Given the description of an element on the screen output the (x, y) to click on. 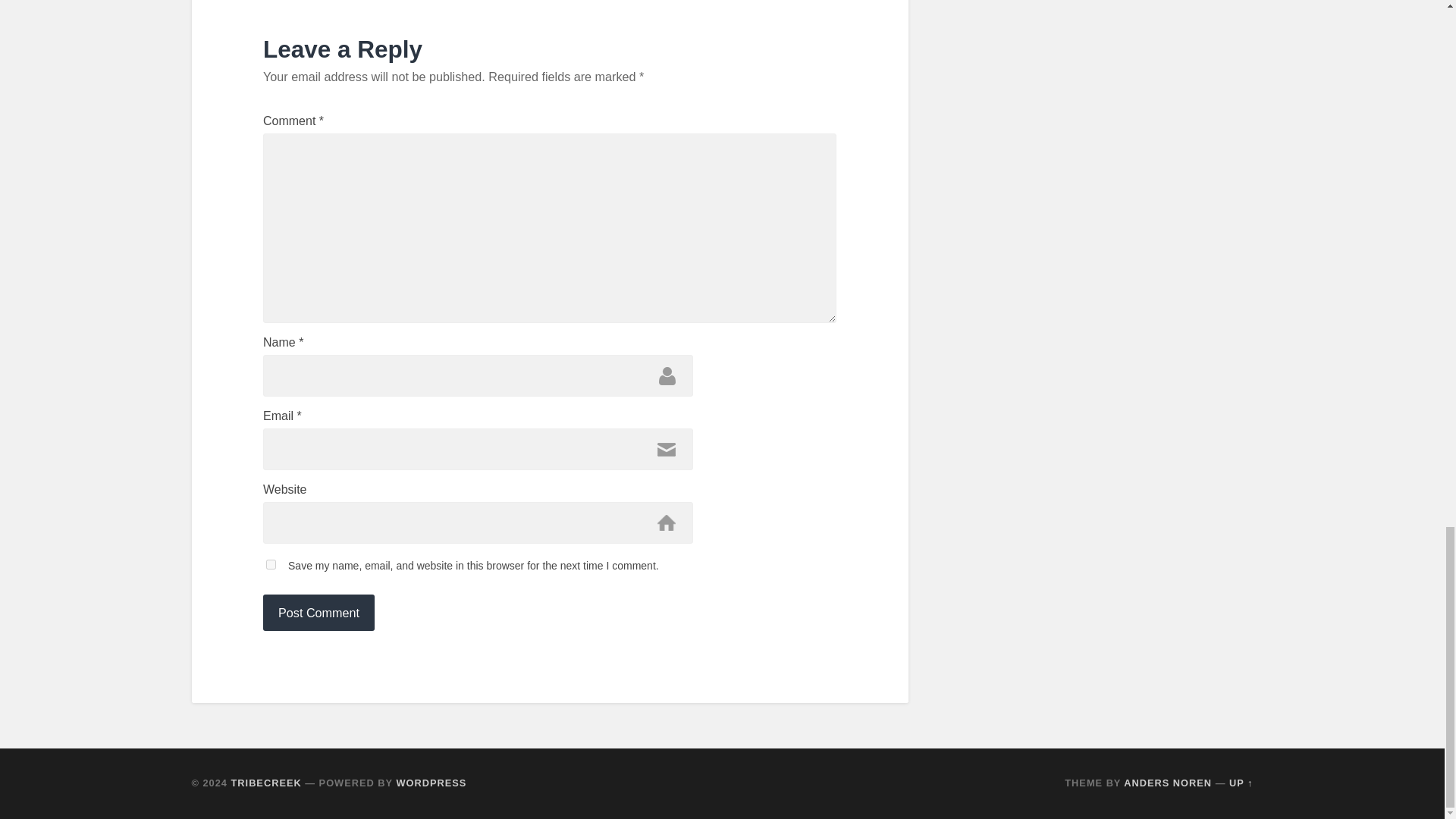
yes (271, 564)
Post Comment (318, 612)
Post Comment (318, 612)
